Given the description of an element on the screen output the (x, y) to click on. 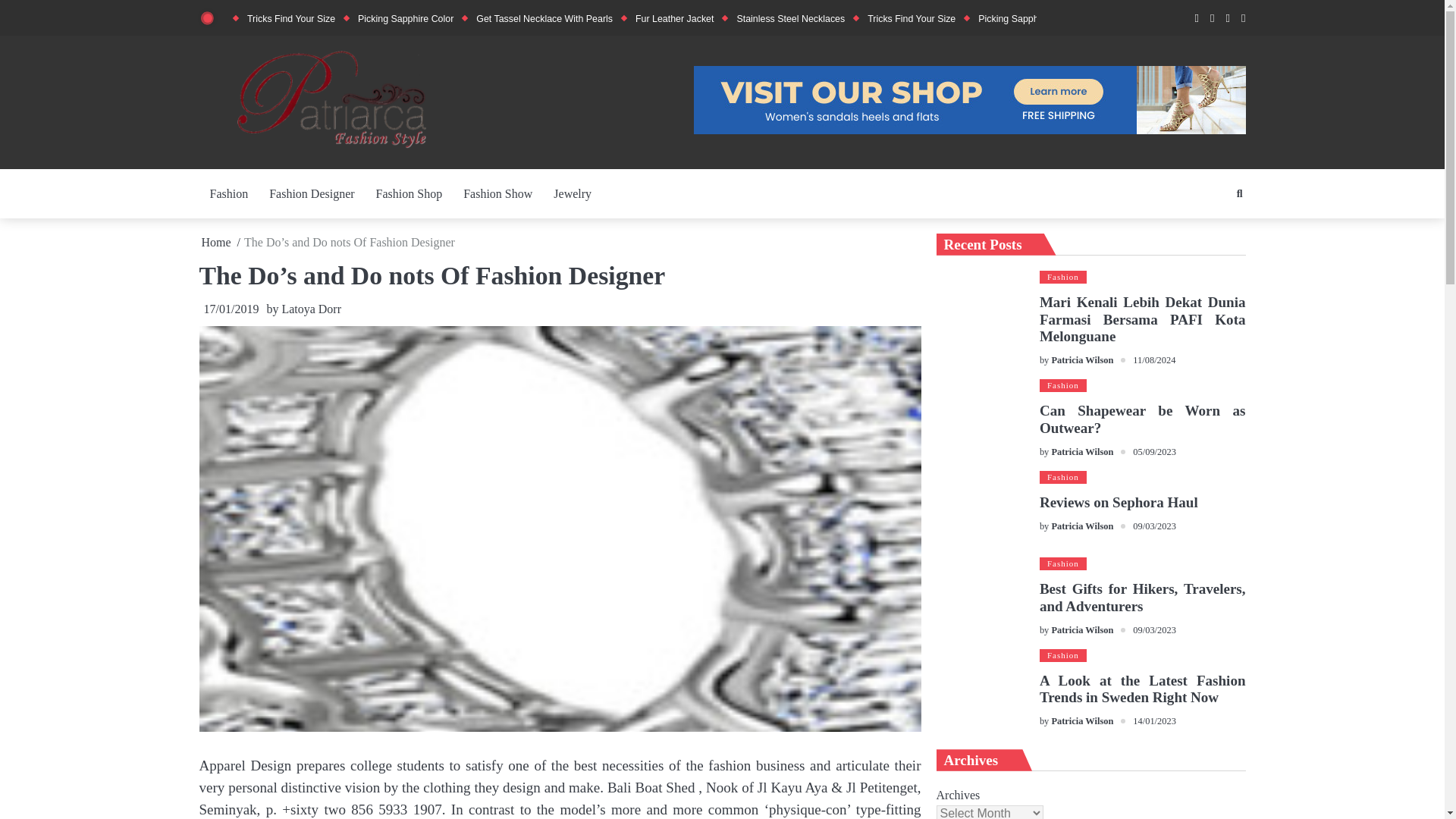
Reviews on Sephora Haul (981, 508)
Latoya Dorr (310, 308)
Picking Sapphire Color (1026, 18)
Can Shapewear be Worn as Outwear? (981, 419)
Best Gifts for Hikers, Travelers, and Adventurers (981, 597)
Get Tassel Necklace With Pearls (544, 18)
Fashion Show (497, 193)
Picking Sapphire Color (405, 18)
Search (1210, 225)
